Given the description of an element on the screen output the (x, y) to click on. 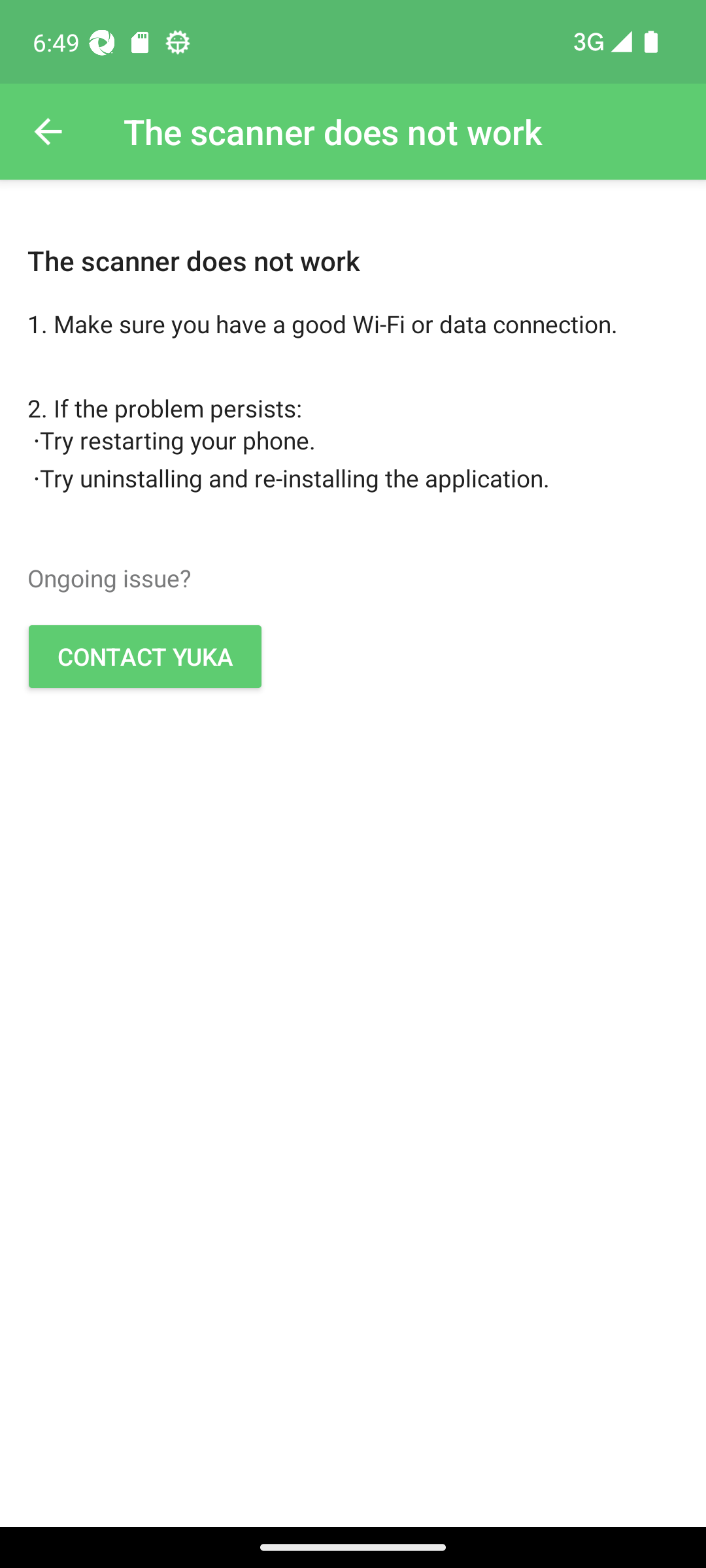
Navigate up (48, 131)
CONTACT YUKA (144, 655)
